Given the description of an element on the screen output the (x, y) to click on. 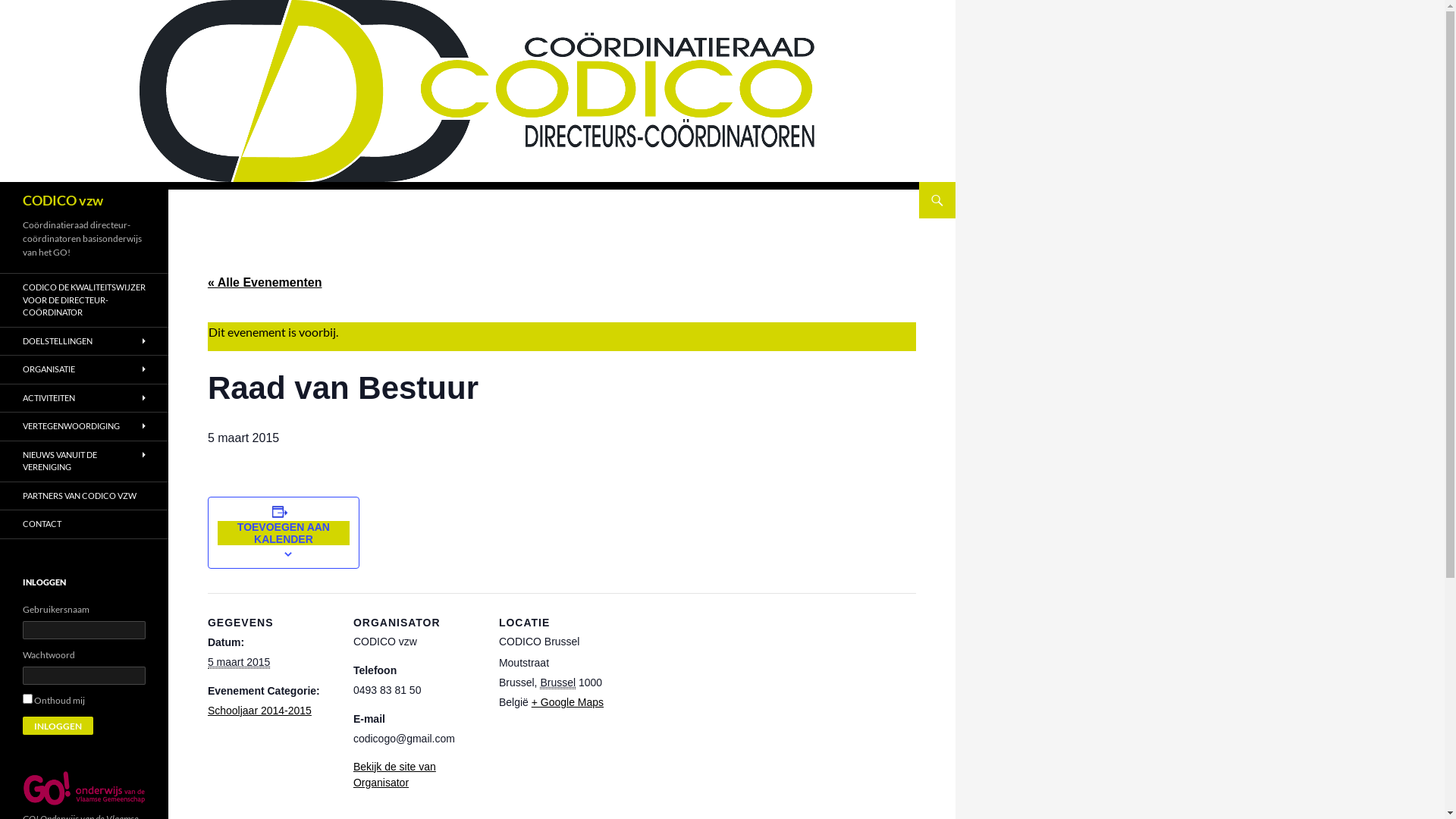
DOELSTELLINGEN Element type: text (84, 341)
NIEUWS VANUIT DE VERENIGING Element type: text (84, 461)
ORGANISATIE Element type: text (84, 369)
PARTNERS VAN CODICO VZW Element type: text (84, 496)
Zoeken Element type: text (3, 181)
GA NAAR DE INHOUD Element type: text (926, 181)
VERTEGENWOORDIGING Element type: text (84, 426)
+ Google Maps Element type: text (567, 702)
CODICO vzw Element type: text (62, 200)
ACTIVITEITEN Element type: text (84, 397)
CONTACT Element type: text (84, 524)
INLOGGEN Element type: text (57, 724)
Bekijk de site van Organisator Element type: text (394, 774)
Schooljaar 2014-2015 Element type: text (259, 710)
TOEVOEGEN AAN KALENDER Element type: text (283, 532)
